Given the description of an element on the screen output the (x, y) to click on. 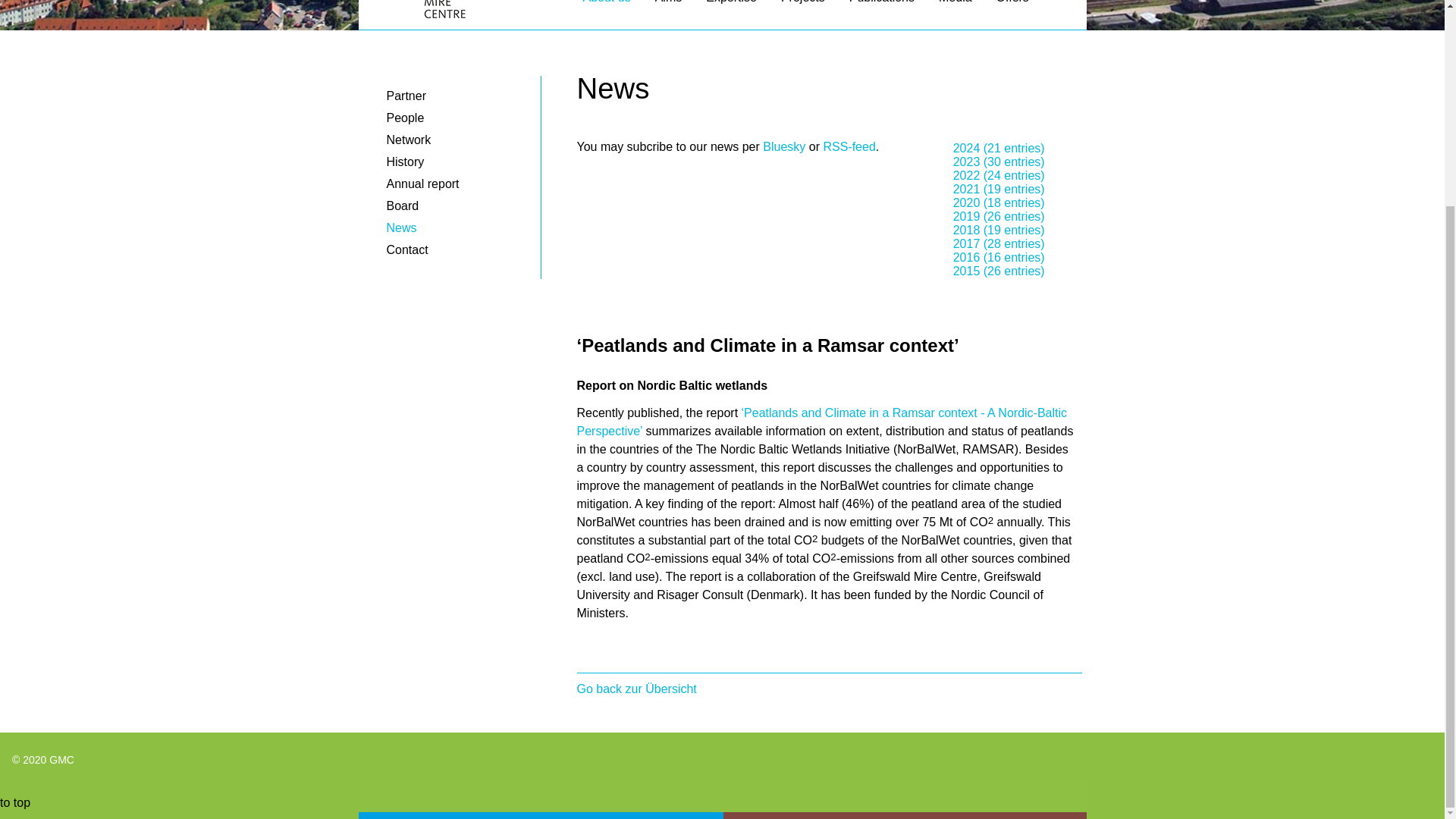
Expertise (731, 8)
About us (606, 8)
About us (606, 8)
Aims (668, 8)
